Given the description of an element on the screen output the (x, y) to click on. 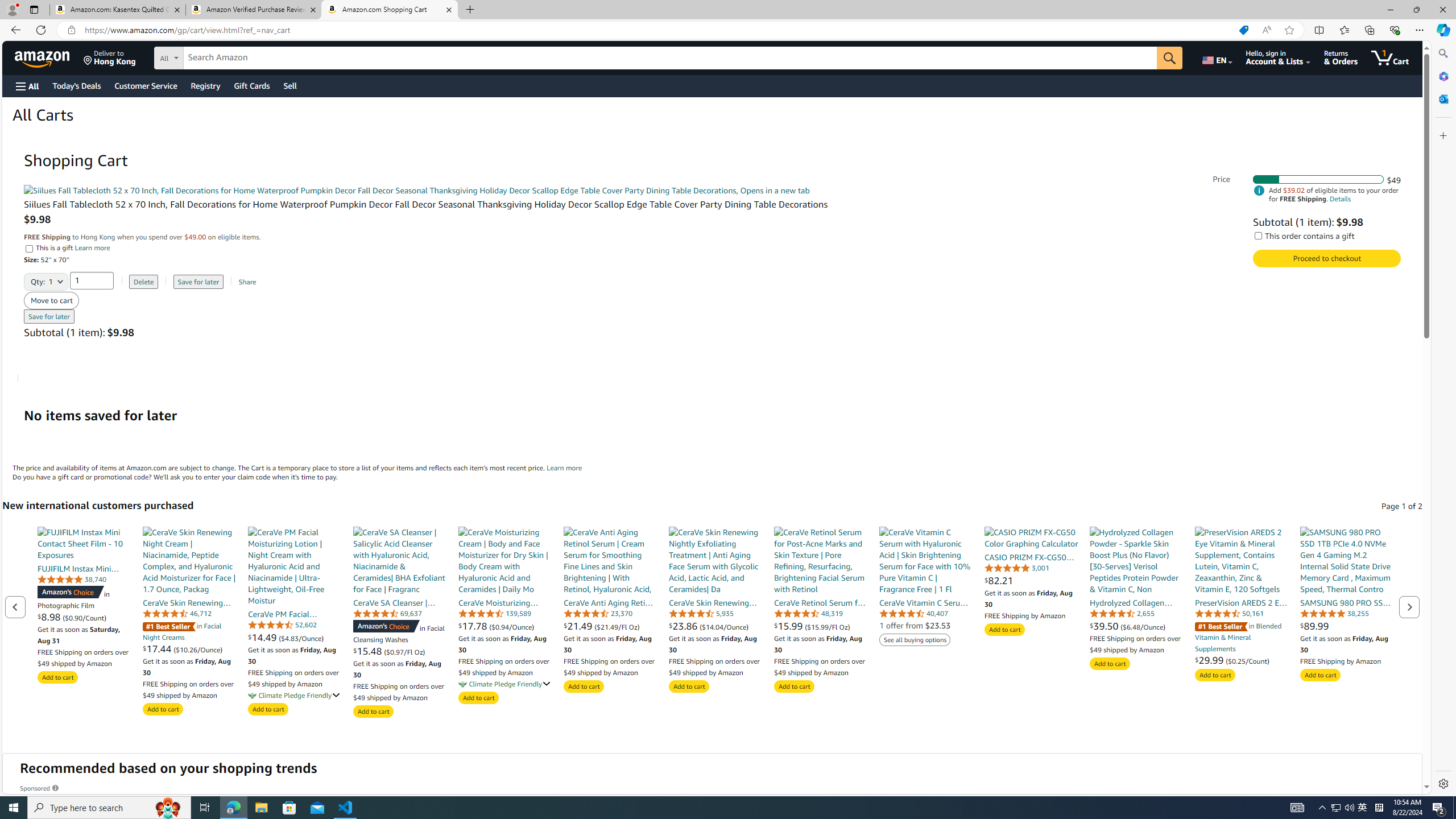
($14.04/Ounce) (723, 626)
$8.98  (49, 616)
$14.49  (263, 636)
Deliver to Hong Kong (109, 57)
Hello, sign in Account & Lists (1278, 57)
